Given the description of an element on the screen output the (x, y) to click on. 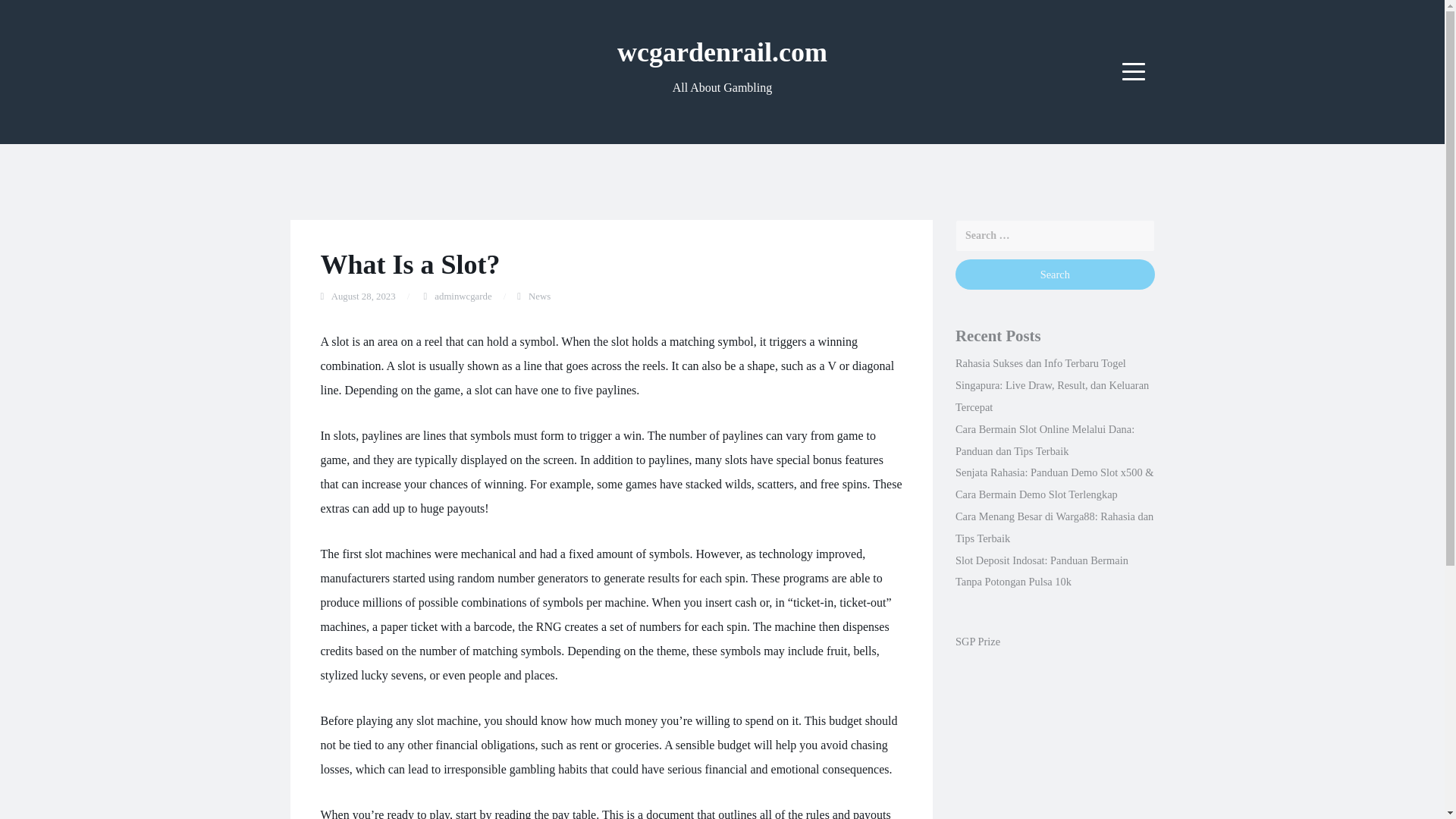
wcgardenrail.com (722, 51)
SGP Prize (977, 641)
Search (1054, 274)
Search (1054, 274)
August 28, 2023 (363, 296)
Search (1054, 274)
News (539, 296)
Cara Menang Besar di Warga88: Rahasia dan Tips Terbaik (1054, 527)
adminwcgarde (462, 296)
Menu (1133, 71)
